Given the description of an element on the screen output the (x, y) to click on. 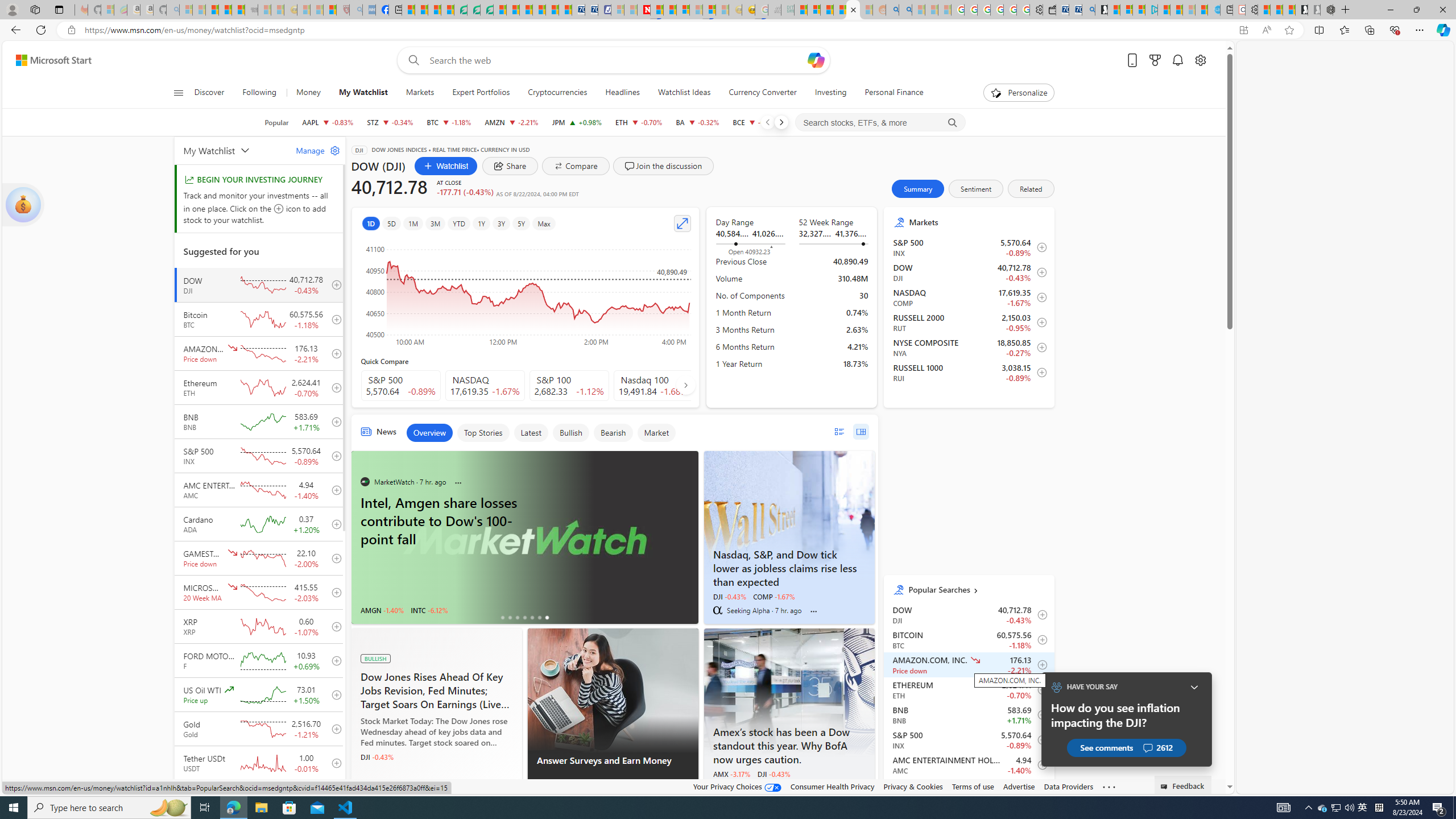
Overview (429, 432)
Terms of use (973, 785)
Terms of Use Agreement (473, 9)
App available. Install Start Money (1243, 29)
Class: recharts-surface (526, 292)
JPM JPMORGAN CHASE & CO. increase 216.71 +2.11 +0.98% (576, 122)
Your Privacy Choices (737, 785)
Personal Finance (889, 92)
Compare (575, 166)
